Given the description of an element on the screen output the (x, y) to click on. 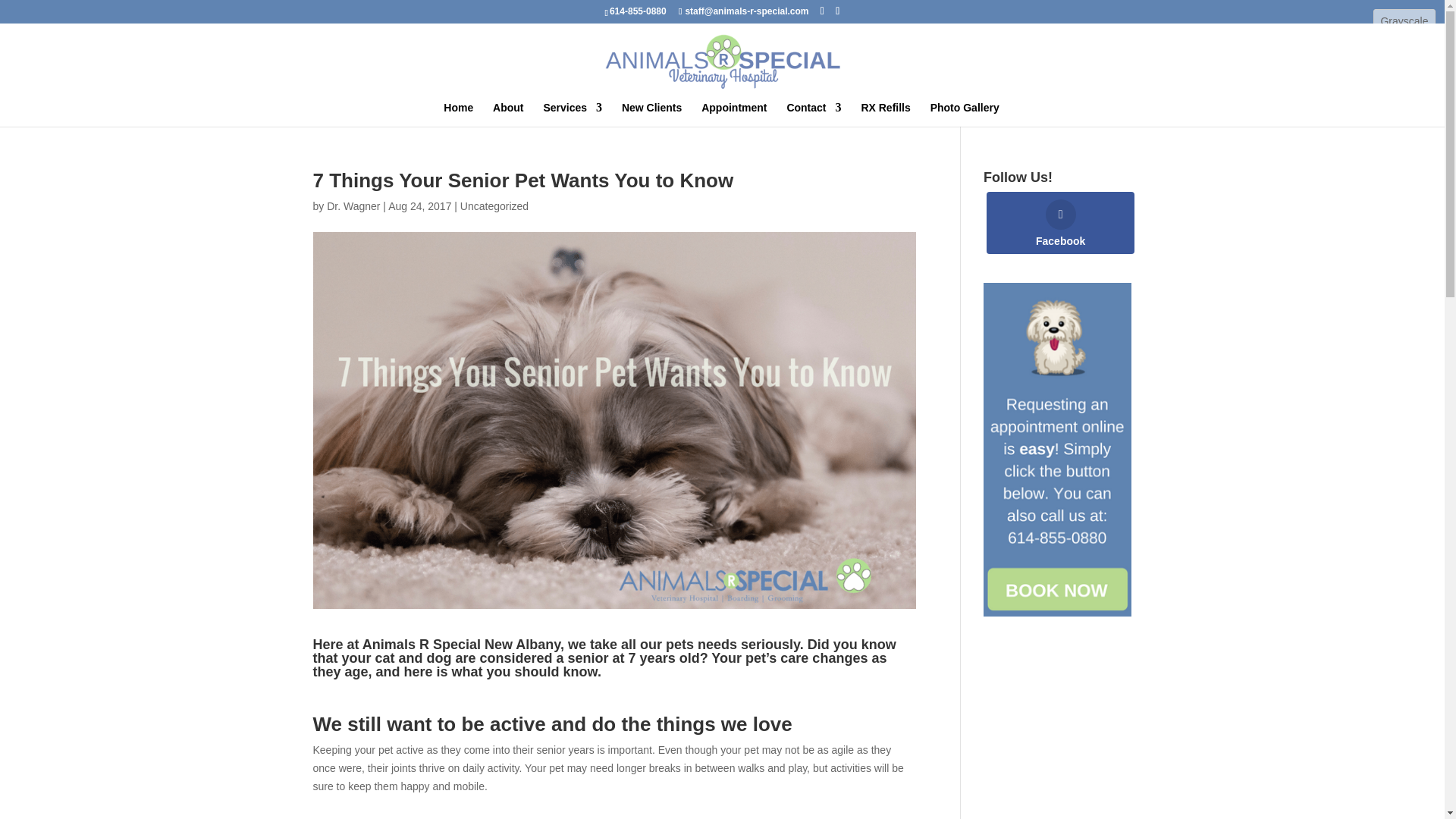
Appointment (734, 114)
614-855-0880 (639, 10)
Posts by Dr. Wagner (353, 205)
Facebook (1060, 222)
Uncategorized (494, 205)
About (507, 114)
Home (458, 114)
Contact (813, 114)
New Clients (651, 114)
Services (572, 114)
